Given the description of an element on the screen output the (x, y) to click on. 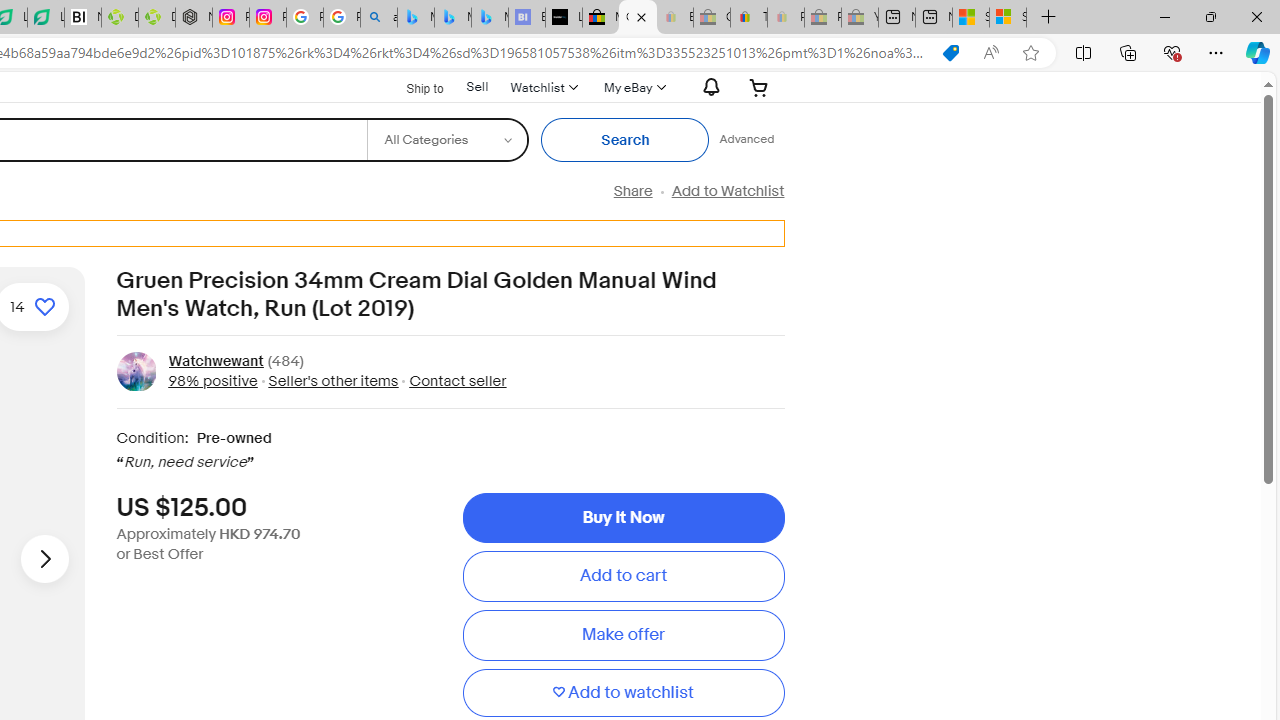
Descarga Driver Updater (157, 17)
WatchlistExpand Watch List (543, 87)
Yard, Garden & Outdoor Living - Sleeping (860, 17)
My eBayExpand My eBay (632, 87)
Sell (477, 86)
98% positive (212, 380)
